Given the description of an element on the screen output the (x, y) to click on. 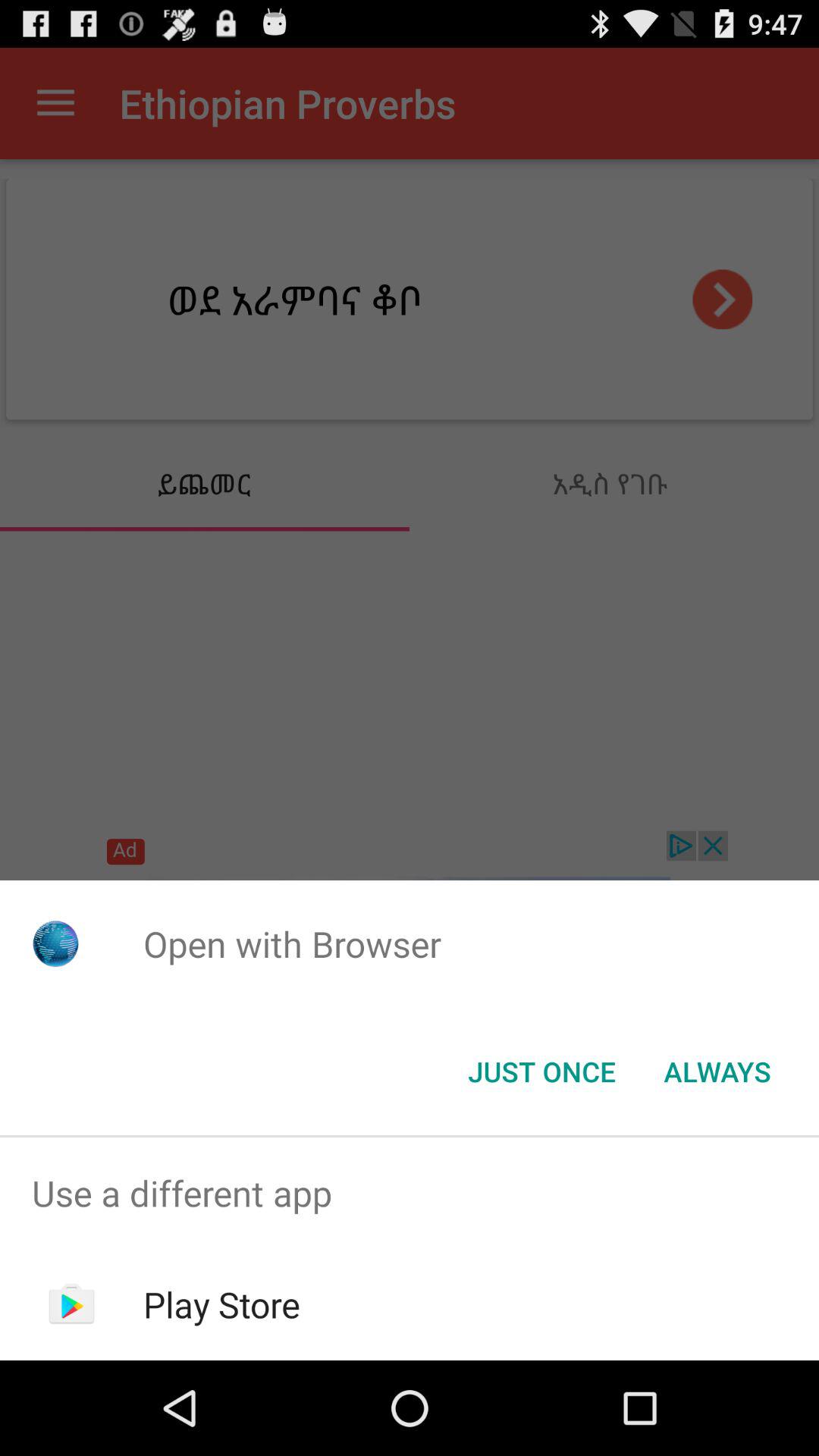
turn off always item (717, 1071)
